Given the description of an element on the screen output the (x, y) to click on. 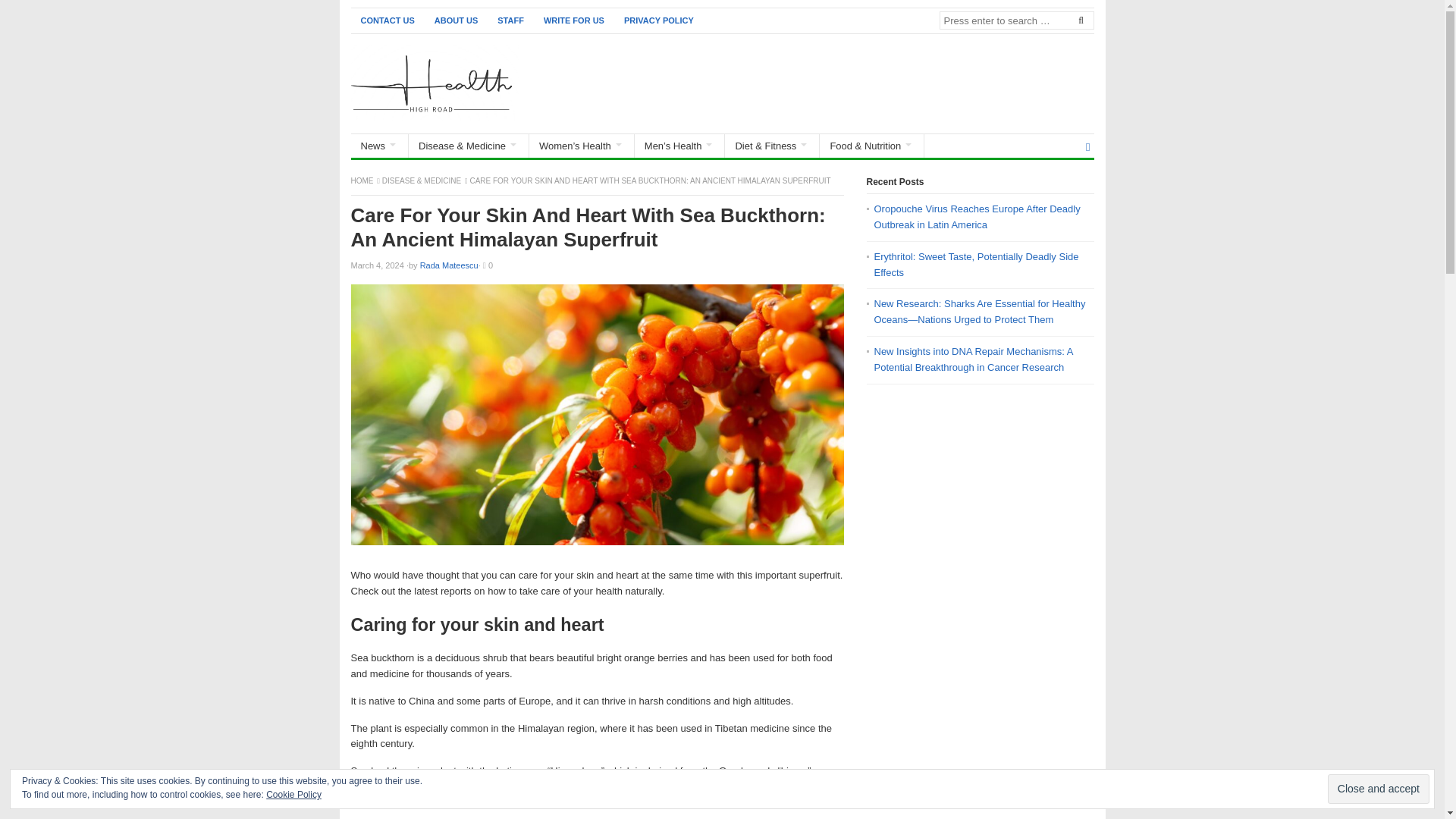
PRIVACY POLICY (658, 20)
Health Highroad (362, 180)
STAFF (510, 20)
ABOUT US (456, 20)
Search for: (1016, 20)
WRITE FOR US (574, 20)
CONTACT US (386, 20)
Close and accept (1378, 788)
